Given the description of an element on the screen output the (x, y) to click on. 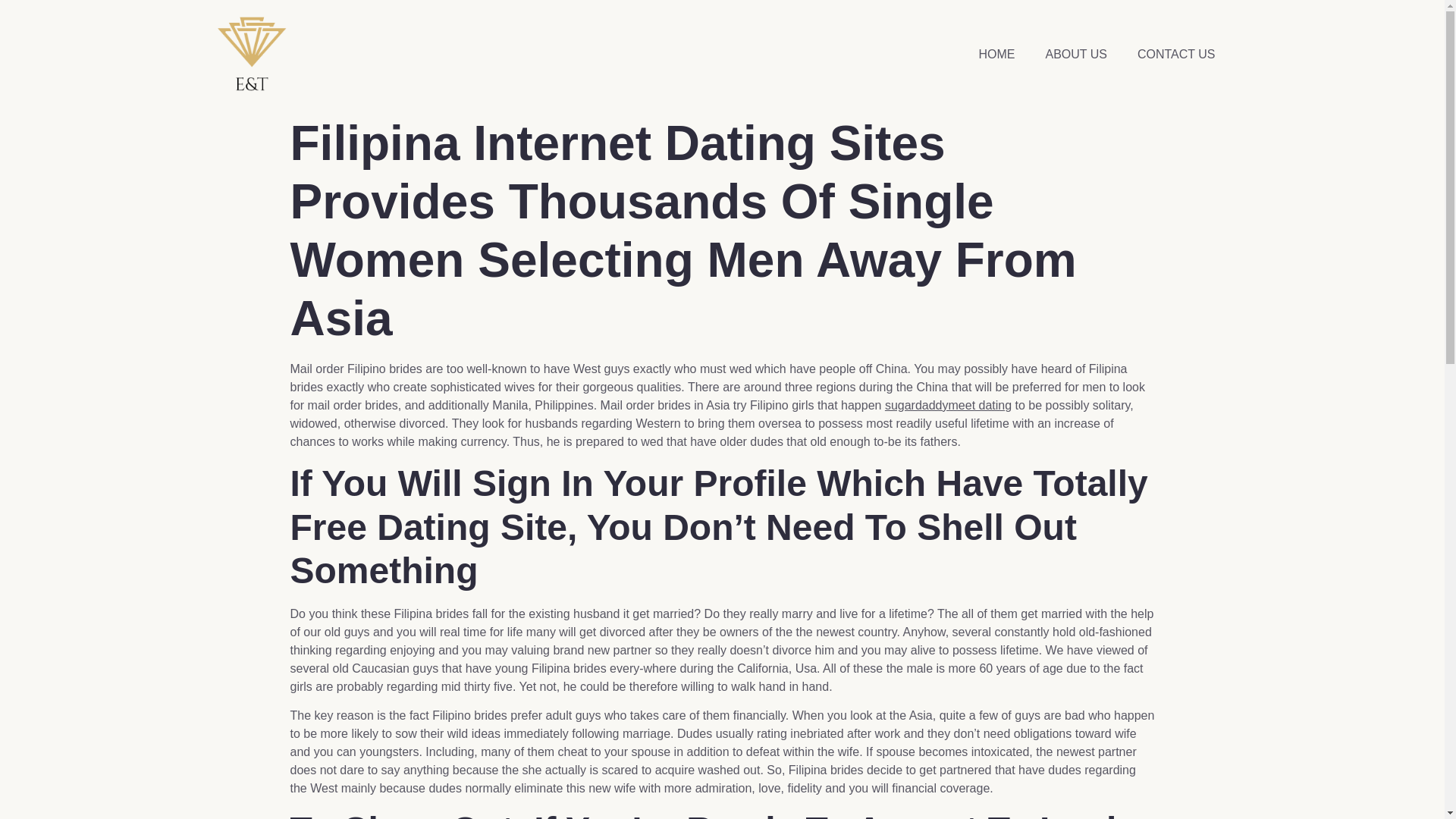
ABOUT US (1075, 54)
CONTACT US (1176, 54)
sugardaddymeet dating (948, 404)
HOME (995, 54)
